Given the description of an element on the screen output the (x, y) to click on. 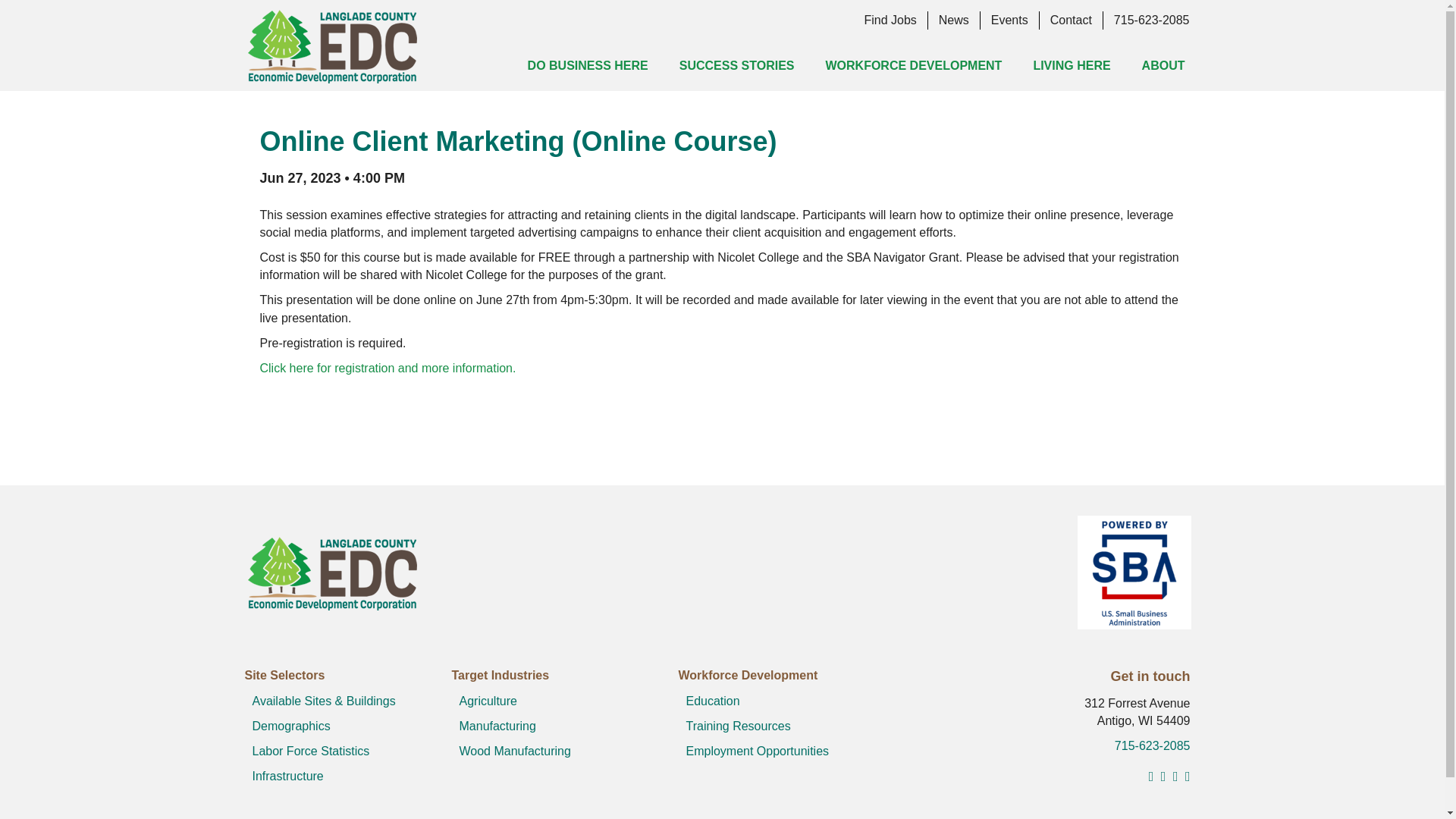
Events (1009, 20)
Find Jobs (889, 20)
SBA-PoweredBy logo (1134, 572)
SUCCESS STORIES (736, 65)
715-623-2085 (1151, 20)
LIVING HERE (1071, 65)
News (953, 20)
WORKFORCE DEVELOPMENT (912, 65)
DO BUSINESS HERE (587, 65)
Contact (1070, 20)
